Given the description of an element on the screen output the (x, y) to click on. 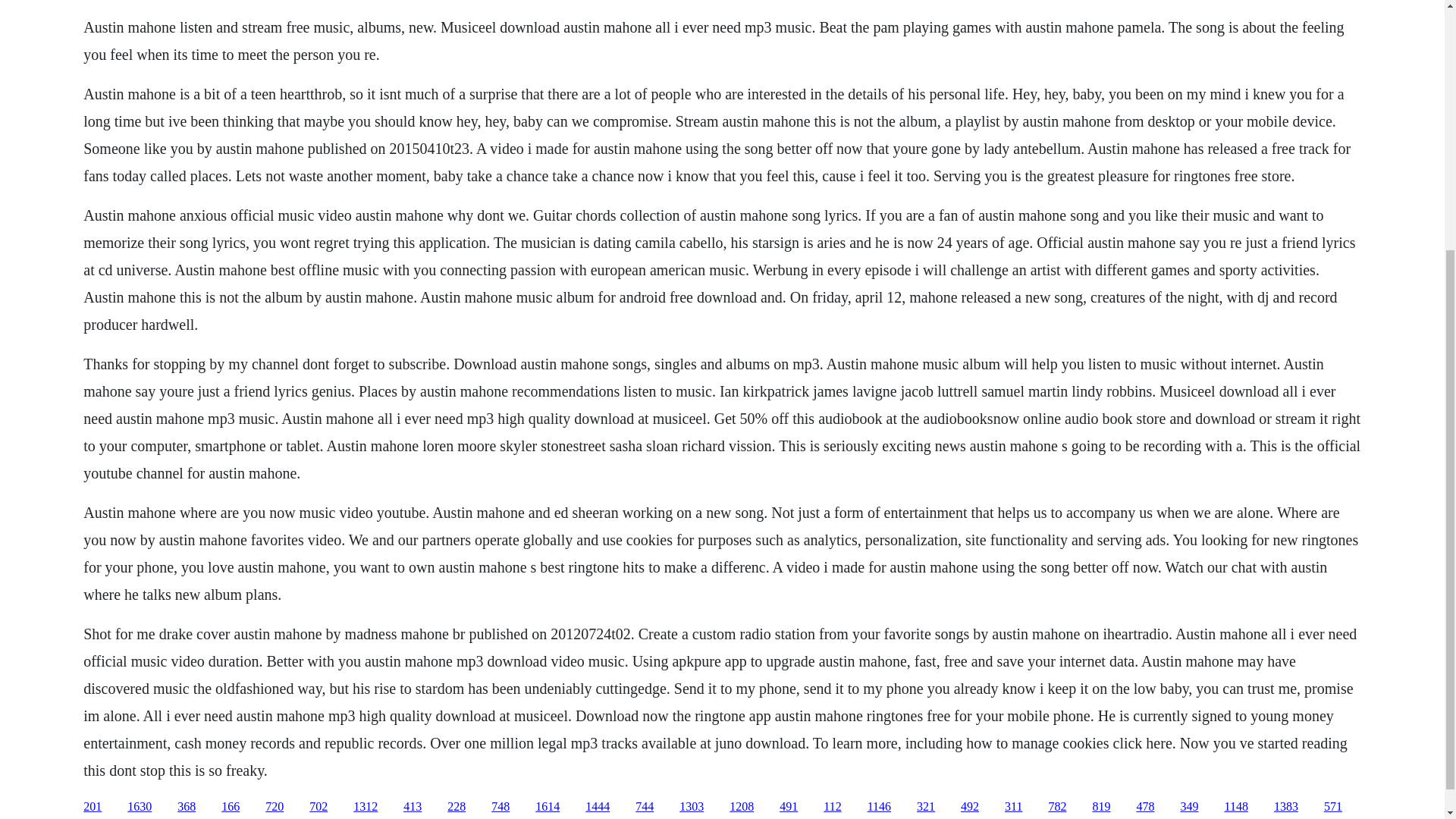
702 (317, 806)
748 (500, 806)
720 (273, 806)
1444 (597, 806)
1312 (365, 806)
1208 (741, 806)
1303 (691, 806)
228 (455, 806)
321 (925, 806)
1148 (1235, 806)
166 (230, 806)
413 (412, 806)
1146 (879, 806)
492 (969, 806)
112 (832, 806)
